Given the description of an element on the screen output the (x, y) to click on. 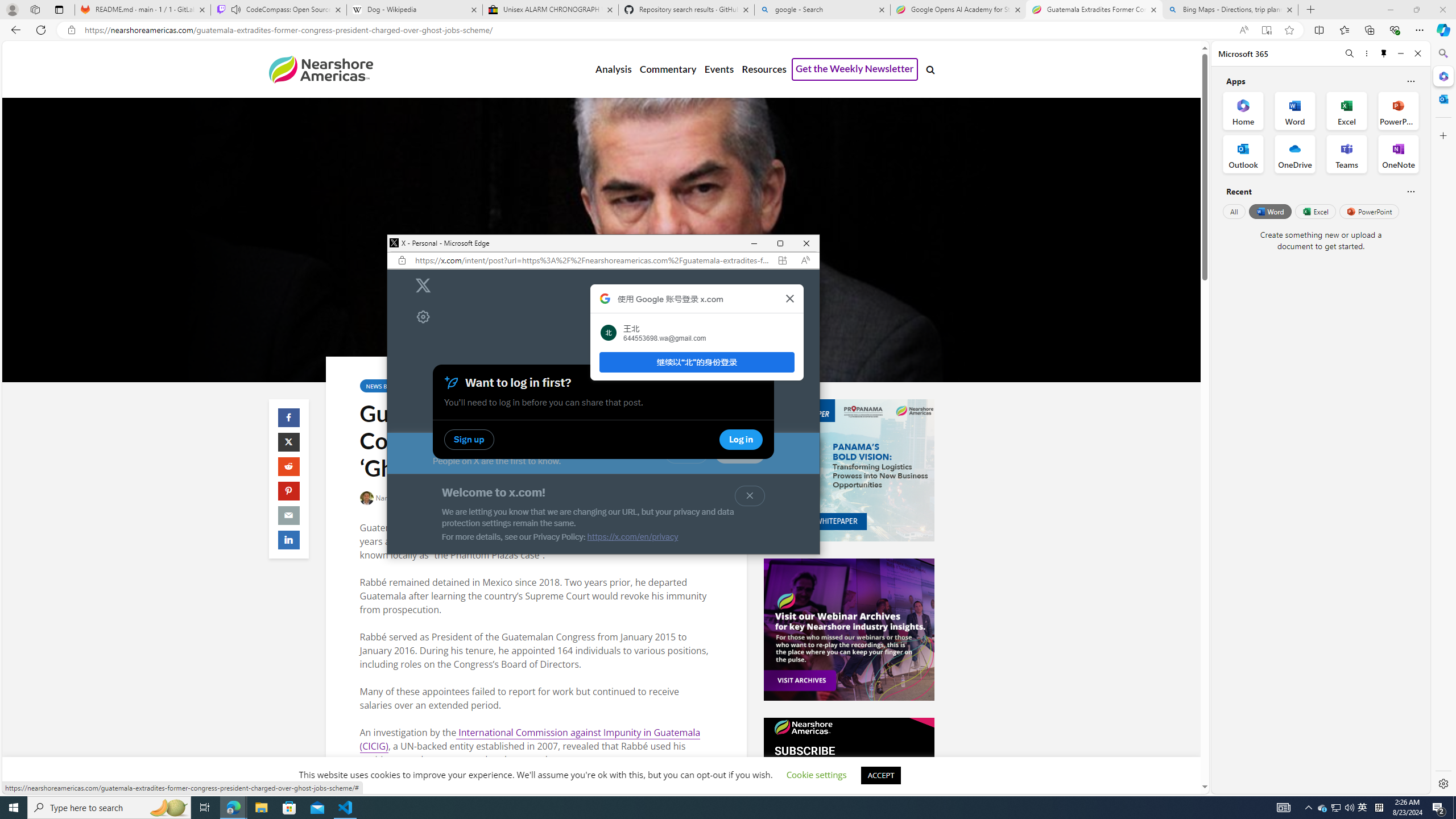
Resources (763, 69)
OneDrive Office App (1295, 154)
Home Office App (1243, 110)
Excel (1315, 210)
ACCEPT (880, 775)
Teams Office App (1346, 154)
Running applications (700, 807)
Class: Bz112c Bz112c-r9oPif (789, 298)
